Given the description of an element on the screen output the (x, y) to click on. 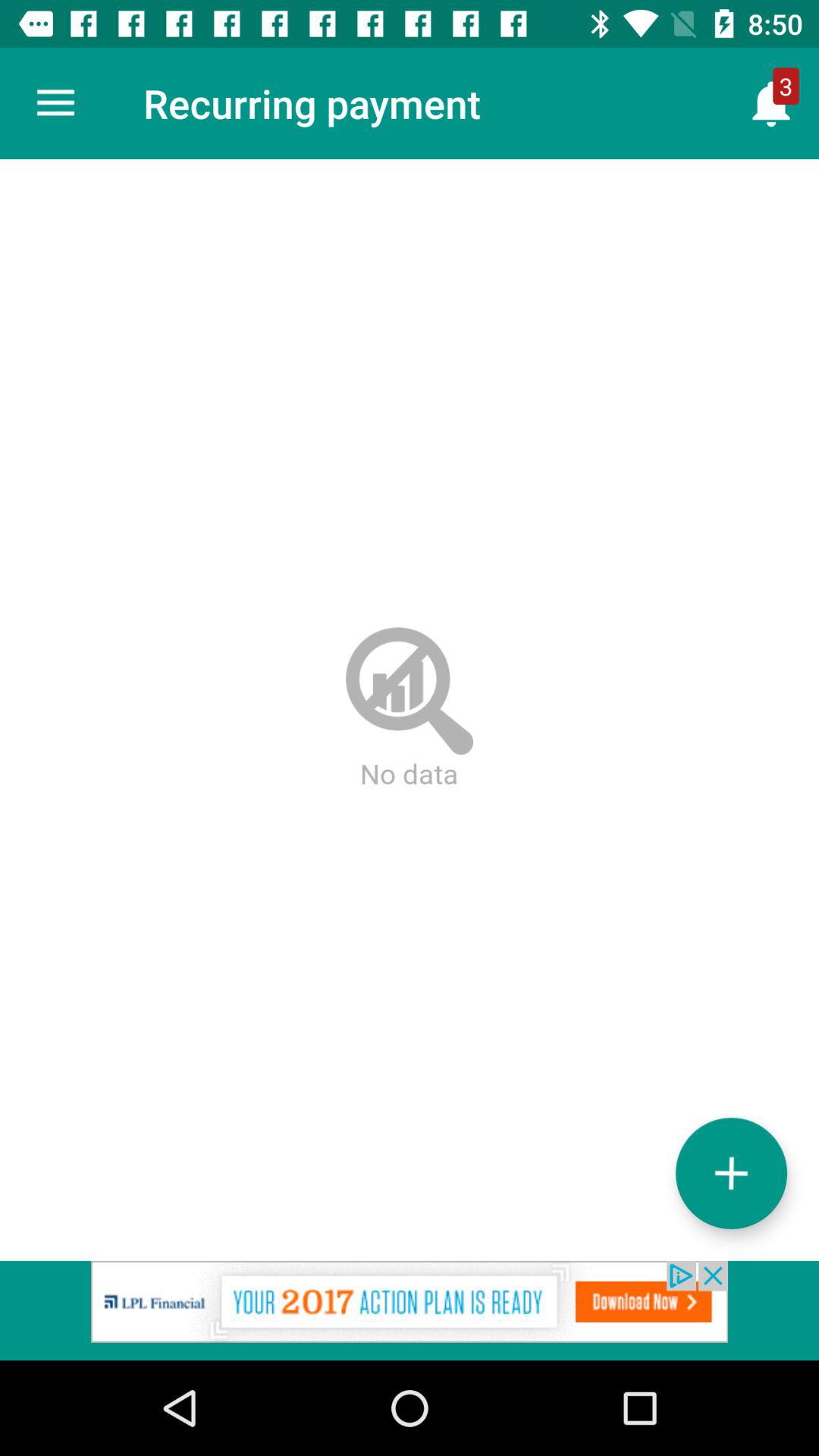
click to open lpl financial app (409, 1310)
